Given the description of an element on the screen output the (x, y) to click on. 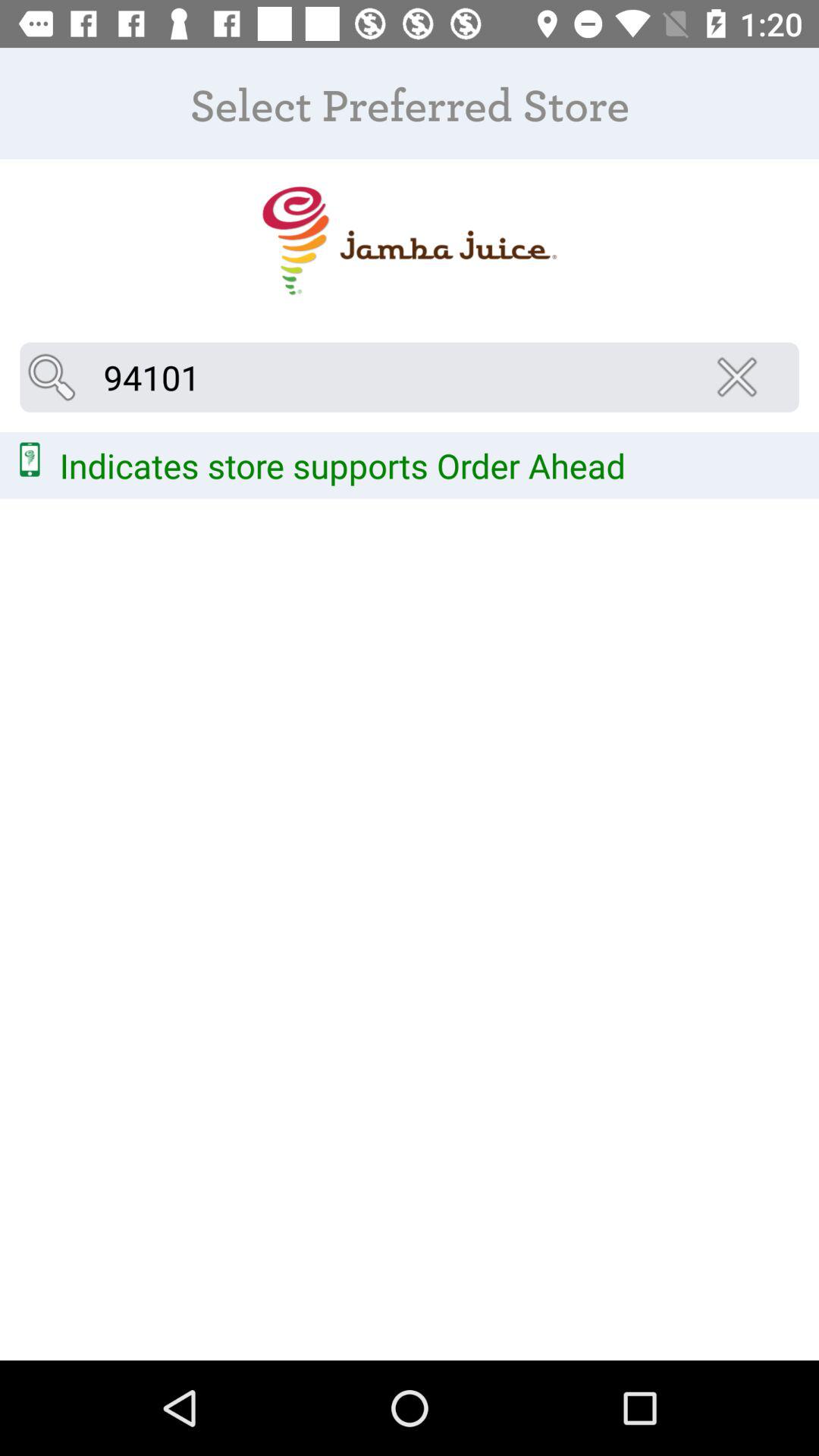
click icon below the select preferred store icon (742, 376)
